Given the description of an element on the screen output the (x, y) to click on. 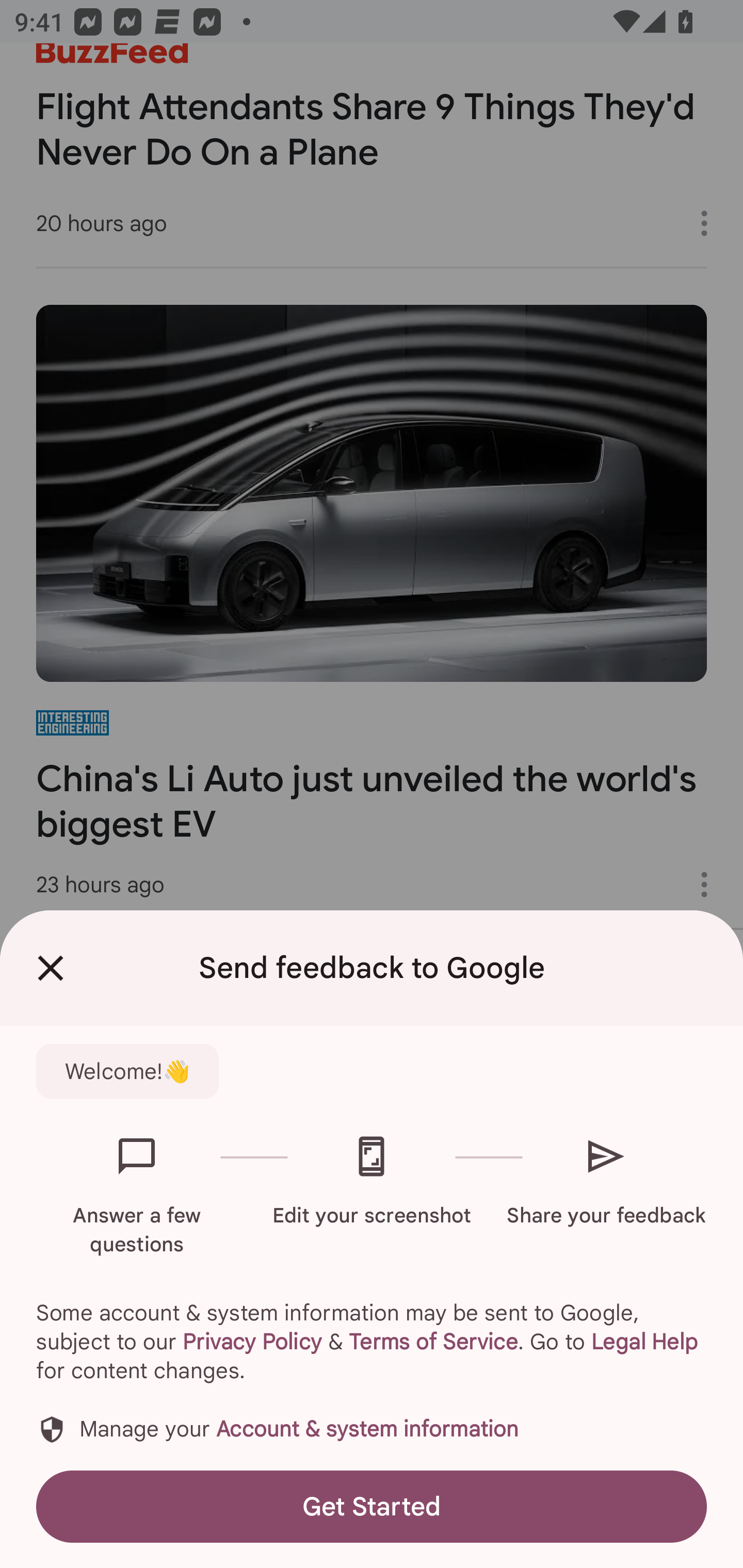
Close Feedback (50, 968)
Get Started (371, 1505)
